Given the description of an element on the screen output the (x, y) to click on. 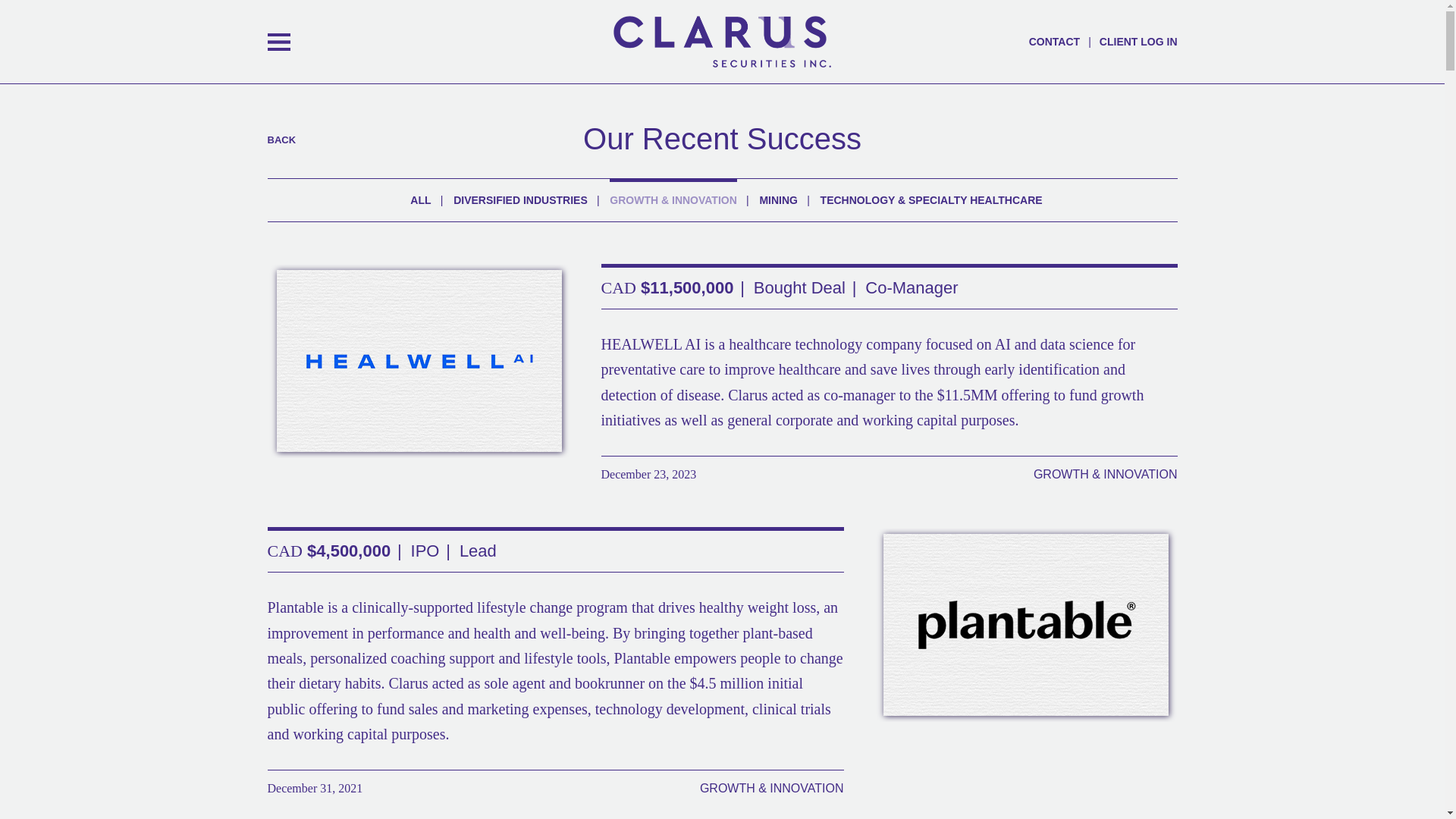
MINING (777, 200)
CONTACT (1054, 41)
BACK (280, 139)
DIVERSIFIED INDUSTRIES (520, 200)
CLIENT LOG IN (1138, 41)
Menu (277, 41)
